Given the description of an element on the screen output the (x, y) to click on. 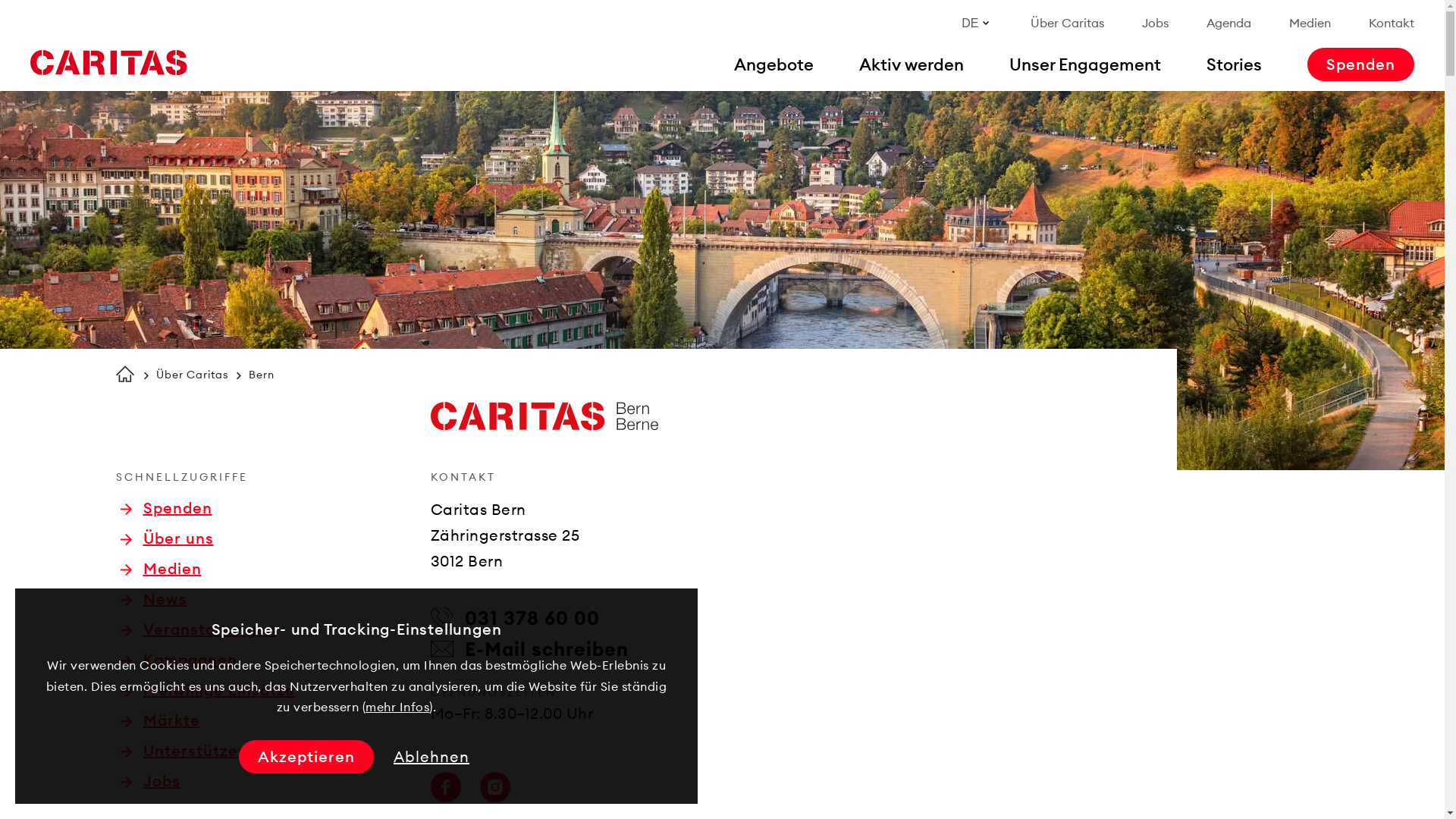
Jobs Element type: text (1155, 22)
Angebote Element type: text (773, 64)
Stories Element type: text (1233, 64)
Jobs Element type: text (149, 780)
instagram Element type: text (494, 786)
Medien Element type: text (160, 568)
Ablehnen Element type: text (431, 756)
Startseite Element type: text (124, 373)
Spenden Element type: text (165, 507)
Medien Element type: text (1309, 22)
mehr Infos Element type: text (397, 706)
Agenda Element type: text (1228, 22)
Unser Engagement Element type: text (1085, 64)
Aktiv werden Element type: text (911, 64)
News Element type: text (153, 598)
Kampagnen Element type: text (178, 659)
Akzeptieren Element type: text (305, 756)
Veranstaltungen Element type: text (197, 629)
facebook Element type: text (445, 786)
Kontakt Element type: text (1391, 22)
Startseite Element type: text (108, 62)
Open sub menu Element type: text (18, 18)
